Given the description of an element on the screen output the (x, y) to click on. 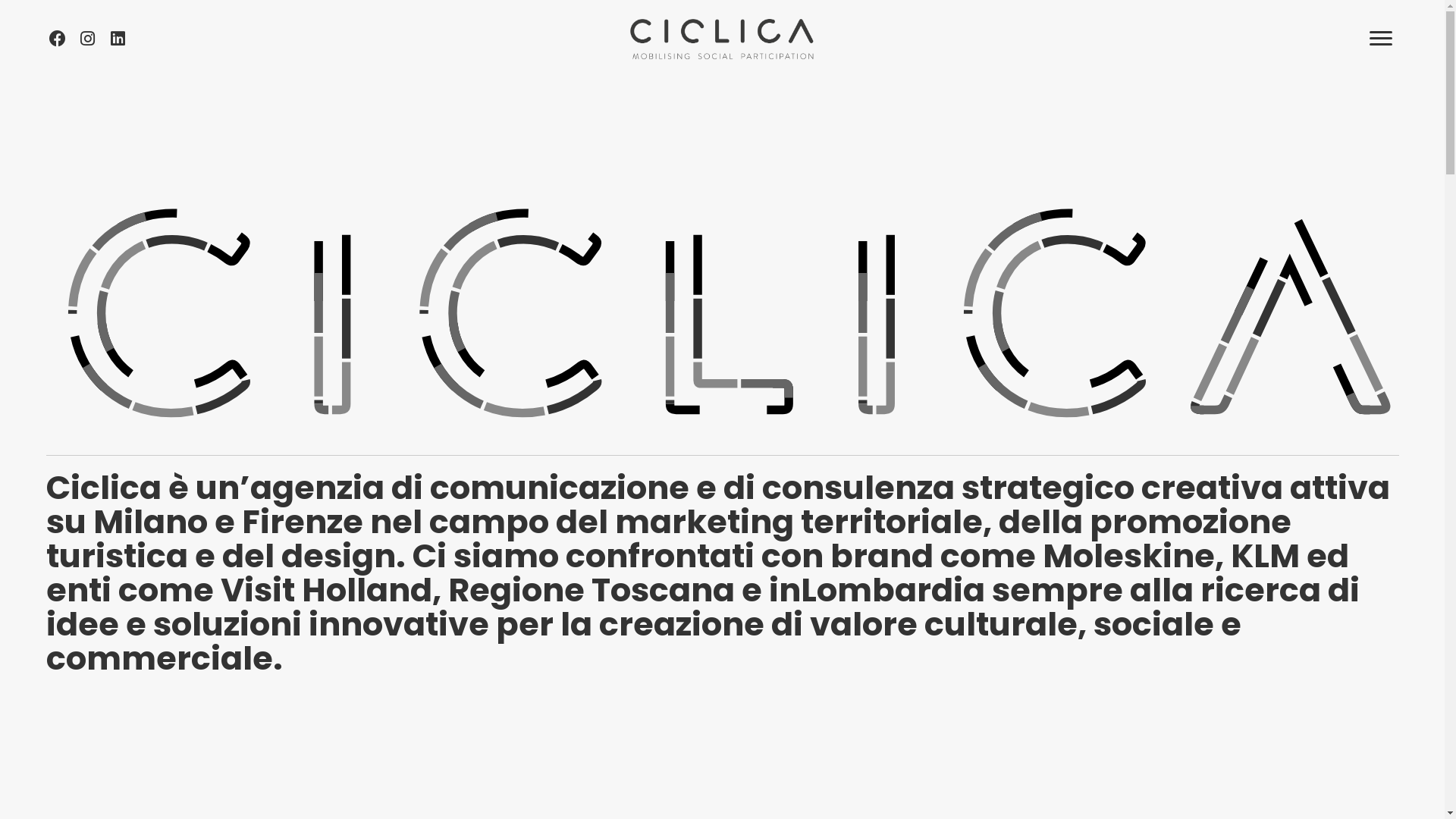
Instagram Element type: hover (86, 38)
CICLICA-bck_orizzontale_claim Element type: hover (721, 38)
Facebook Element type: hover (56, 38)
LinkedIn Element type: hover (117, 38)
